Given the description of an element on the screen output the (x, y) to click on. 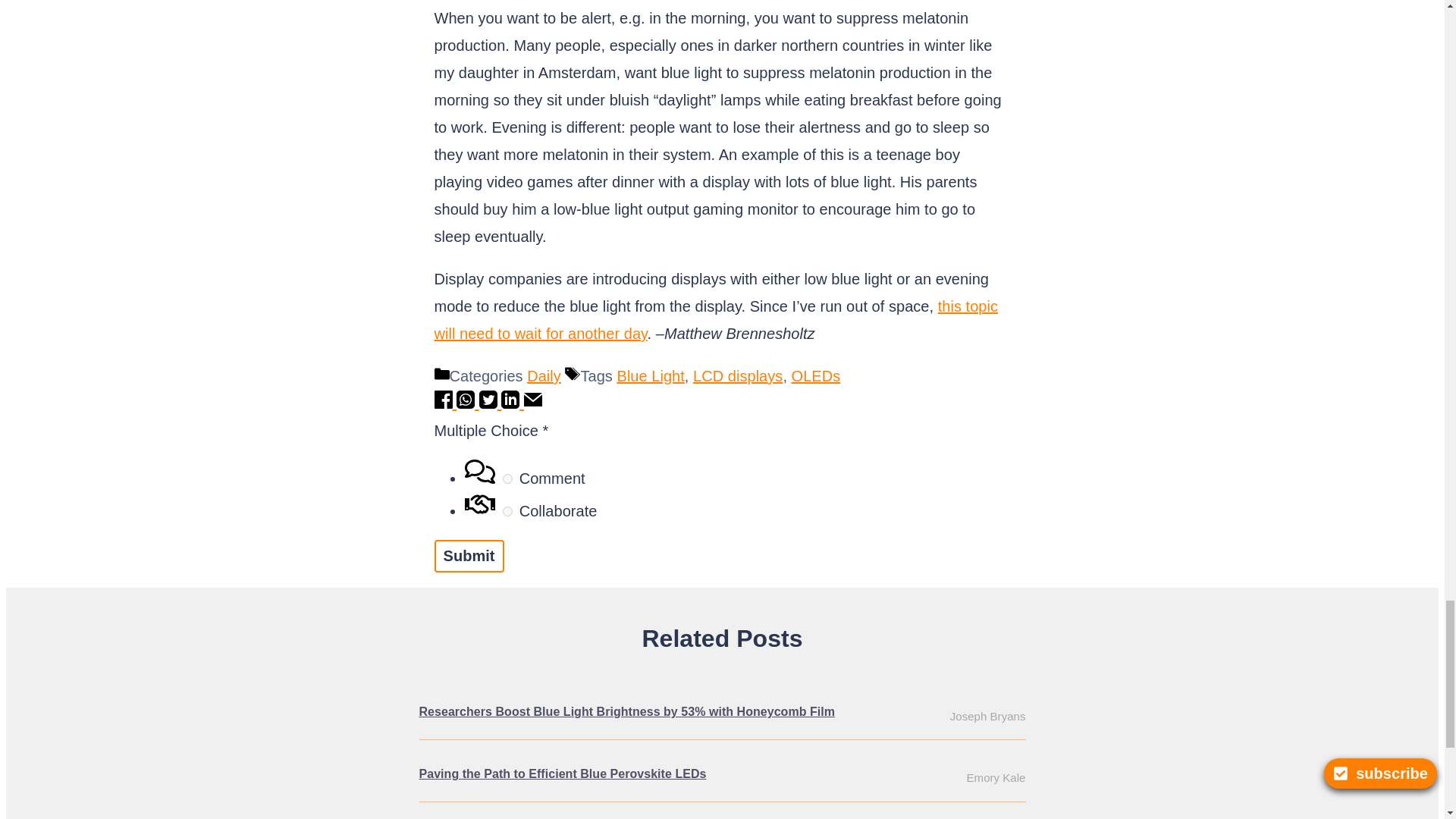
Submit (468, 555)
Daily (543, 375)
Collaborate (507, 511)
OLEDs (816, 375)
this topic will need to wait for another day (715, 320)
Comment (507, 479)
Blue Light (650, 375)
LCD displays (738, 375)
